Given the description of an element on the screen output the (x, y) to click on. 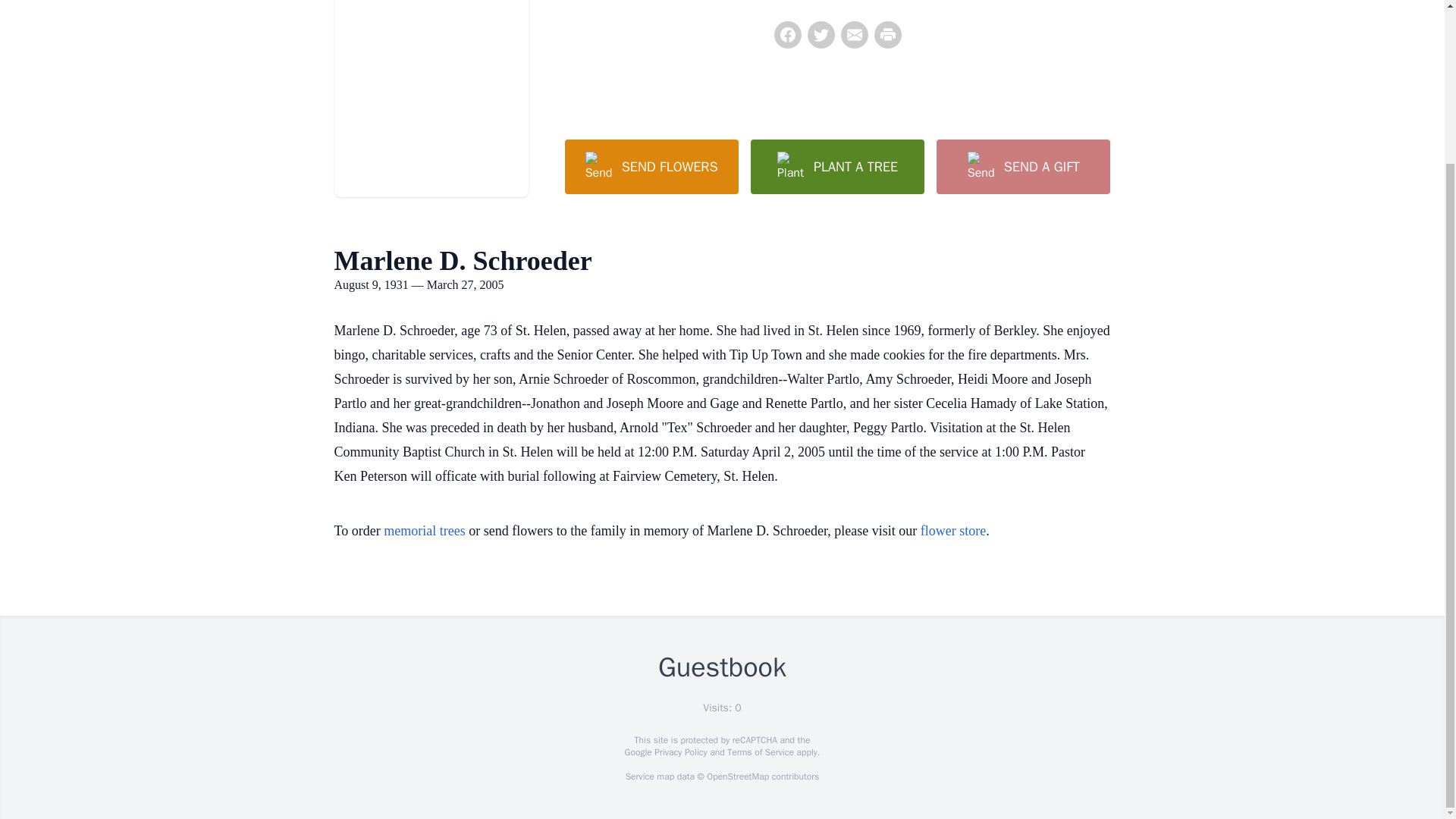
Privacy Policy (679, 752)
SEND FLOWERS (651, 166)
SEND A GIFT (1022, 166)
PLANT A TREE (837, 166)
memorial trees (424, 530)
flower store (952, 530)
Terms of Service (759, 752)
OpenStreetMap (737, 776)
